Given the description of an element on the screen output the (x, y) to click on. 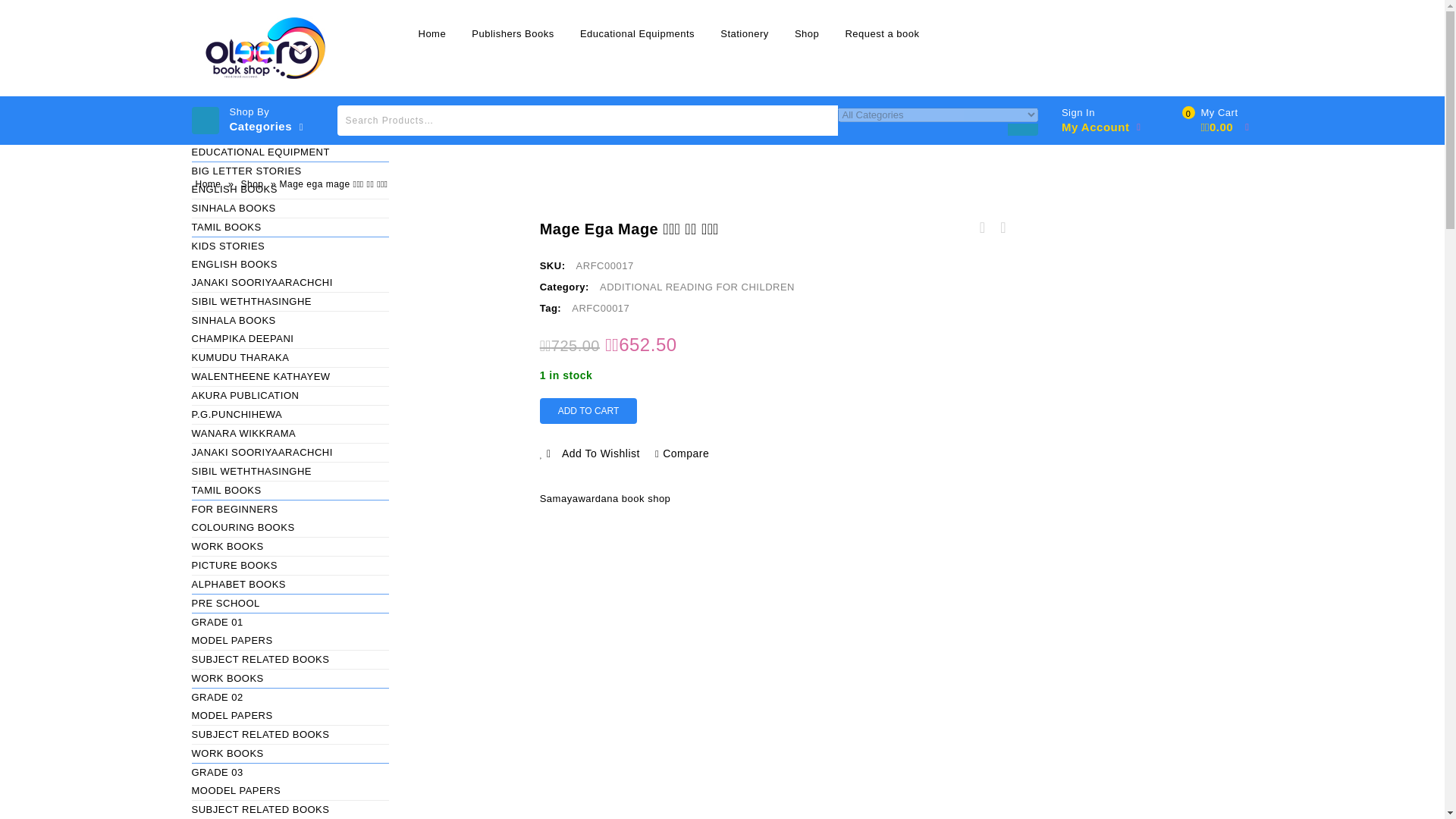
Oleero Books (266, 47)
Home (431, 33)
Publishers Books (512, 33)
View your shopping cart (1220, 120)
View brand (605, 498)
Shop (806, 33)
Request a book (881, 33)
Educational Equipments (637, 33)
Search (1022, 138)
Search for: (587, 120)
